Given the description of an element on the screen output the (x, y) to click on. 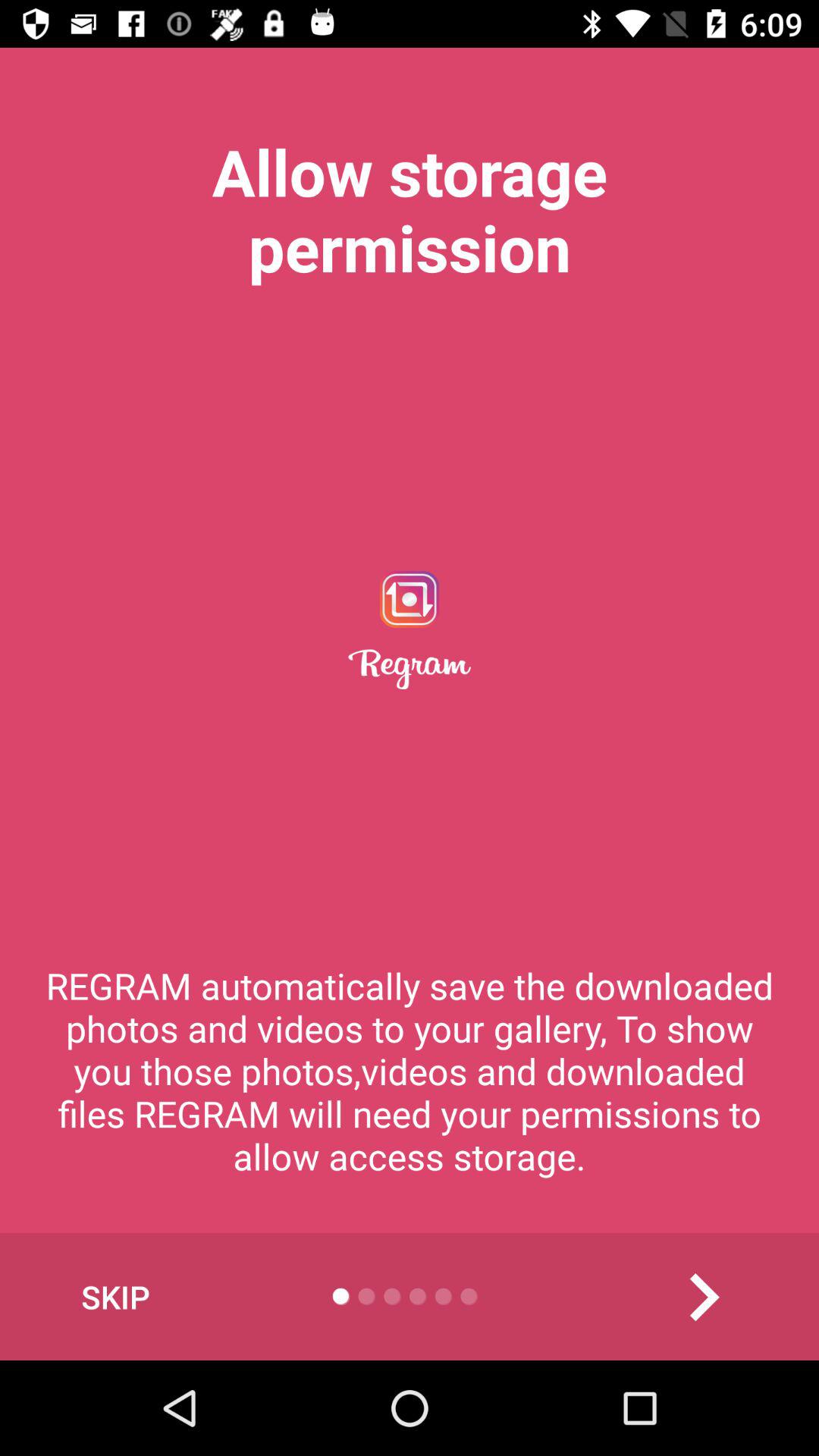
go to next page (703, 1296)
